Given the description of an element on the screen output the (x, y) to click on. 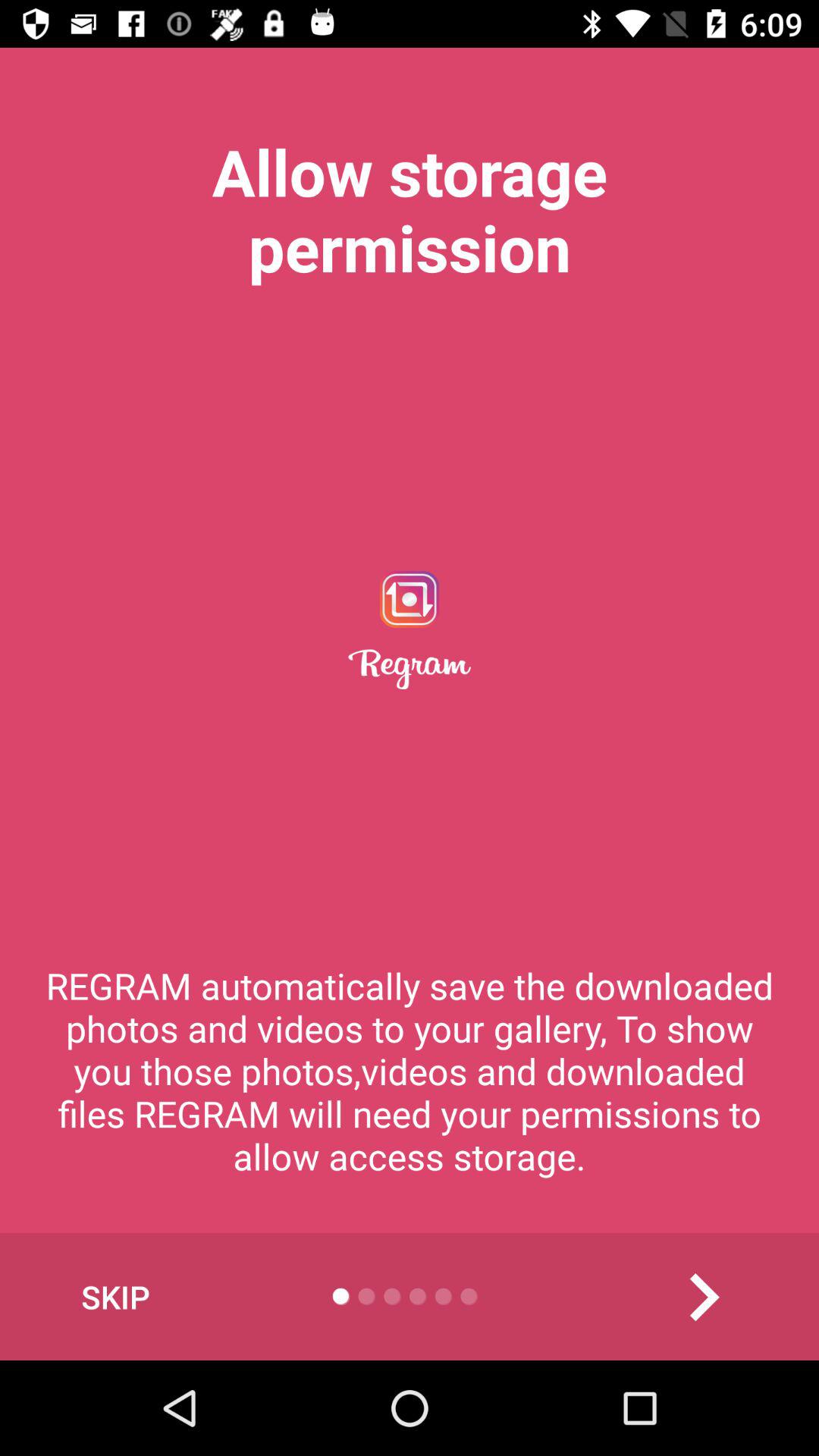
go to next page (703, 1296)
